Given the description of an element on the screen output the (x, y) to click on. 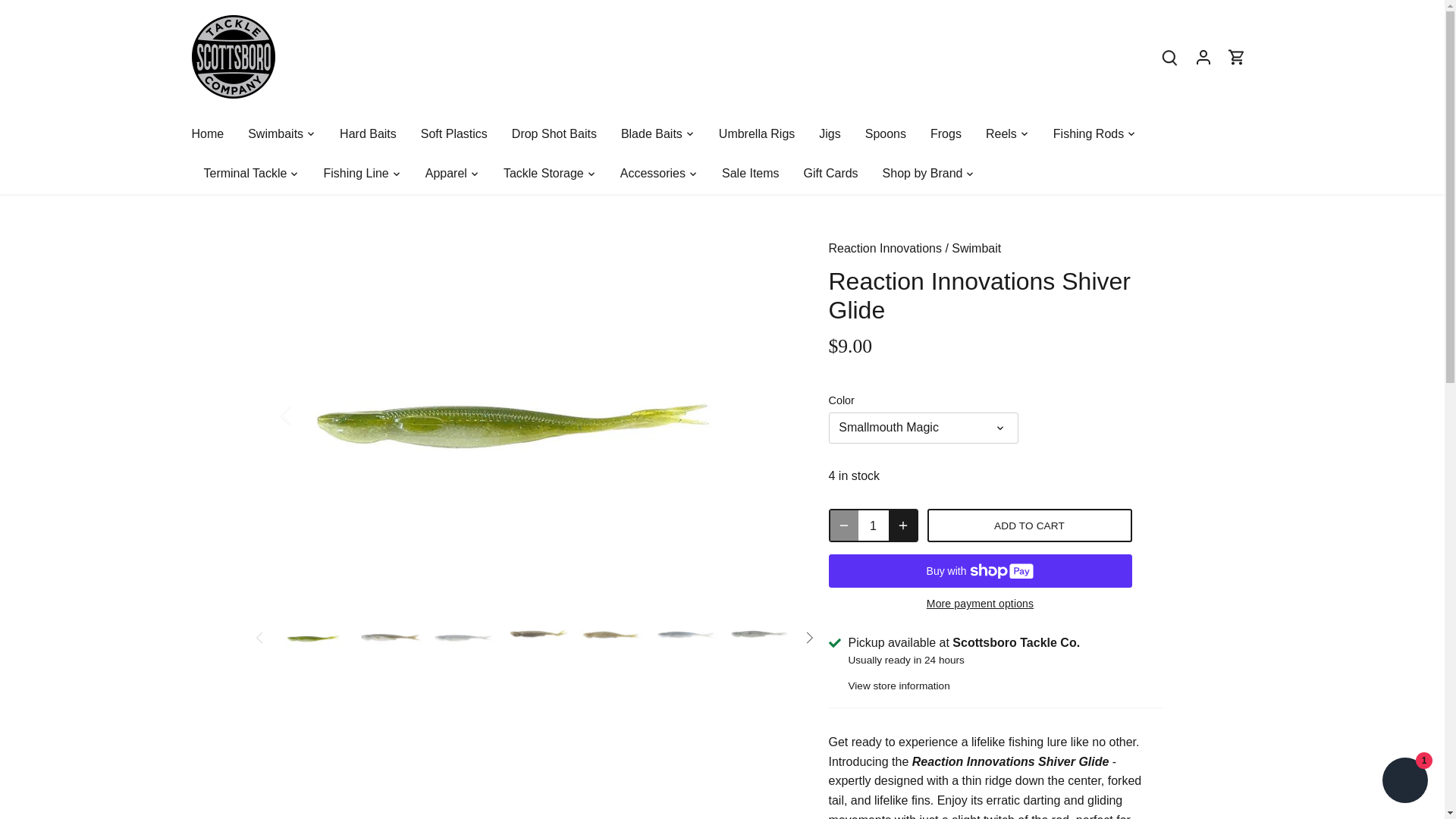
Swimbaits (275, 133)
Blade Baits (651, 133)
Home (212, 133)
Jigs (828, 133)
Frogs (946, 133)
Umbrella Rigs (756, 133)
Drop Shot Baits (553, 133)
Soft Plastics (454, 133)
Fishing Rods (1088, 133)
Hard Baits (368, 133)
Reels (1001, 133)
Spoons (885, 133)
1 (873, 525)
